Given the description of an element on the screen output the (x, y) to click on. 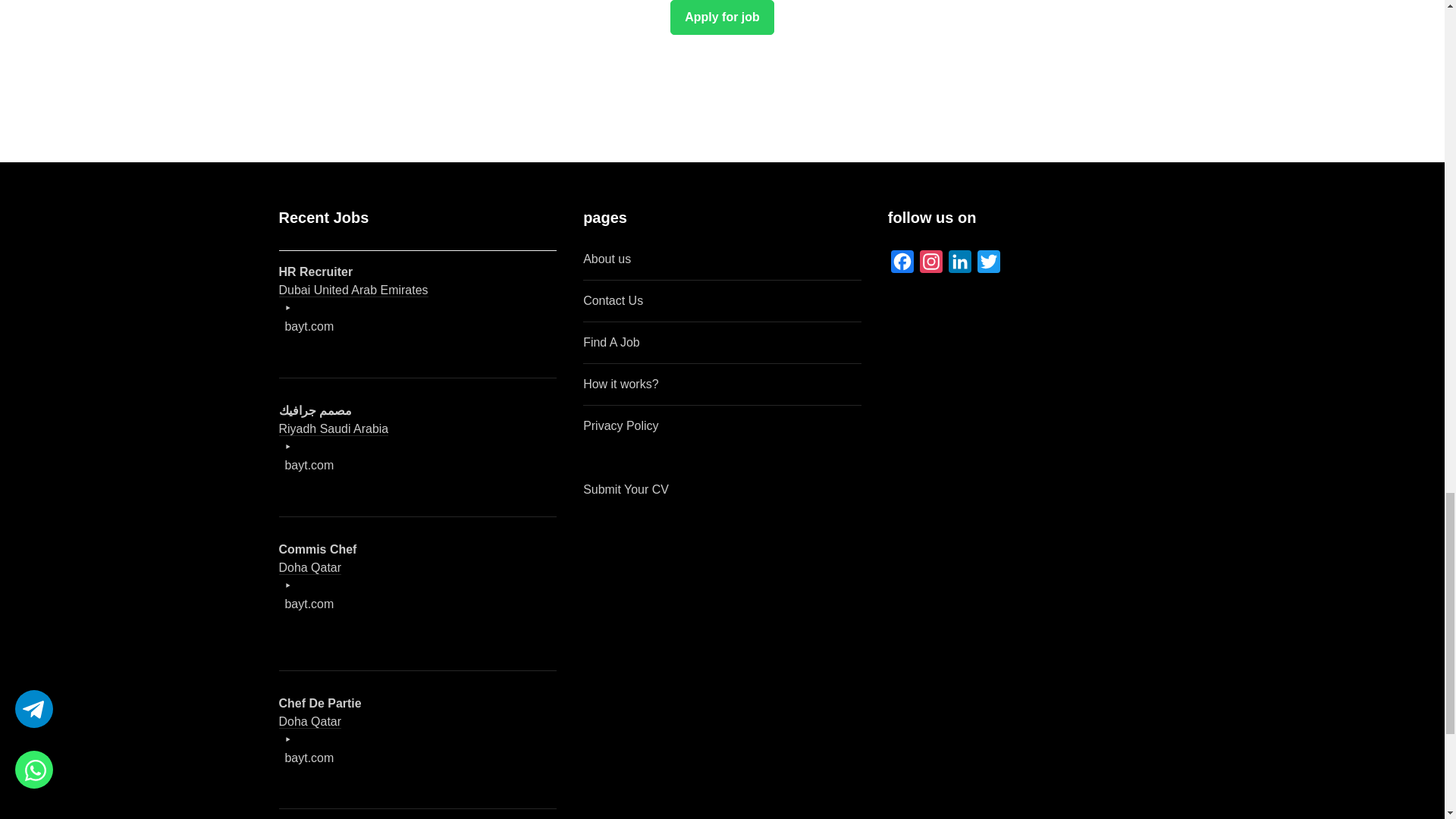
LinkedIn (959, 265)
Instagram (930, 265)
Facebook (902, 265)
Twitter (988, 265)
Apply for job (721, 17)
